Given the description of an element on the screen output the (x, y) to click on. 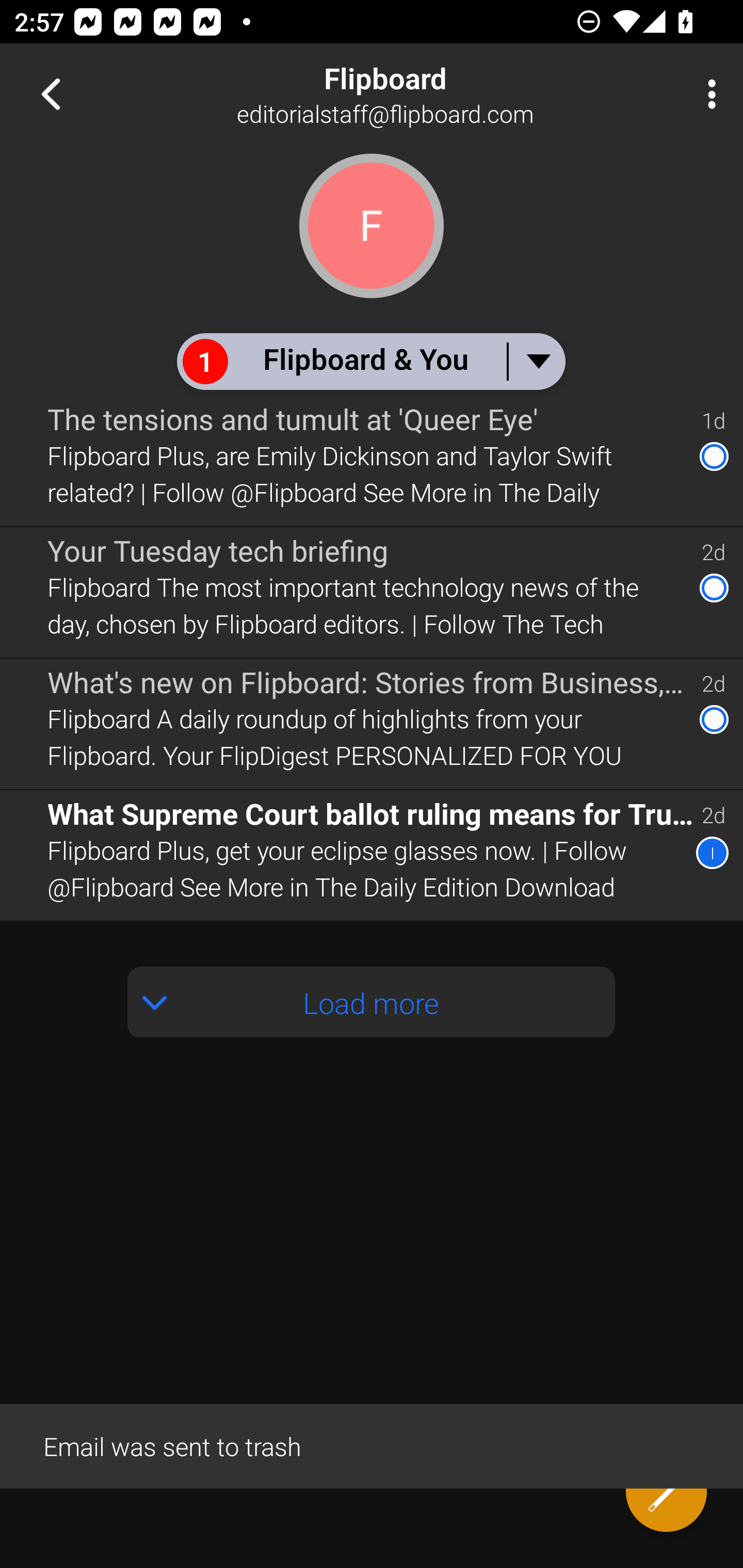
Navigate up (50, 93)
Flipboard editorialstaff@flipboard.com (436, 93)
More Options (706, 93)
1 Flipboard & You (370, 361)
Load more (371, 1001)
Email was sent to trash (371, 1445)
